Given the description of an element on the screen output the (x, y) to click on. 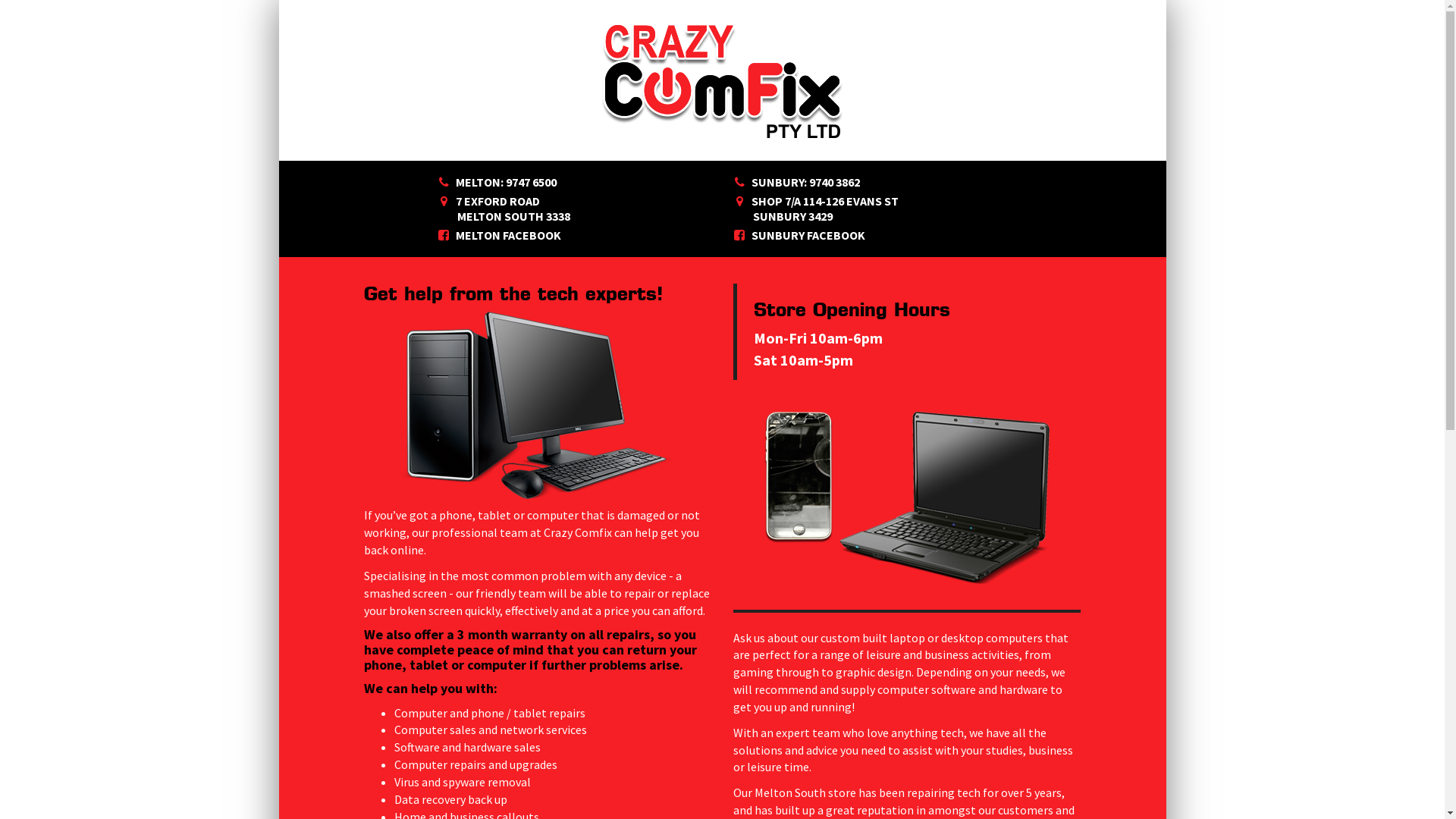
SUNBURY: 9740 3862 Element type: text (805, 181)
7 EXFORD ROAD
MELTON SOUTH 3338 Element type: text (504, 208)
SUNBURY FACEBOOK Element type: text (808, 234)
SHOP 7/A 114-126 EVANS ST
SUNBURY 3429 Element type: text (816, 208)
MELTON FACEBOOK Element type: text (508, 234)
MELTON: 9747 6500 Element type: text (505, 181)
